Given the description of an element on the screen output the (x, y) to click on. 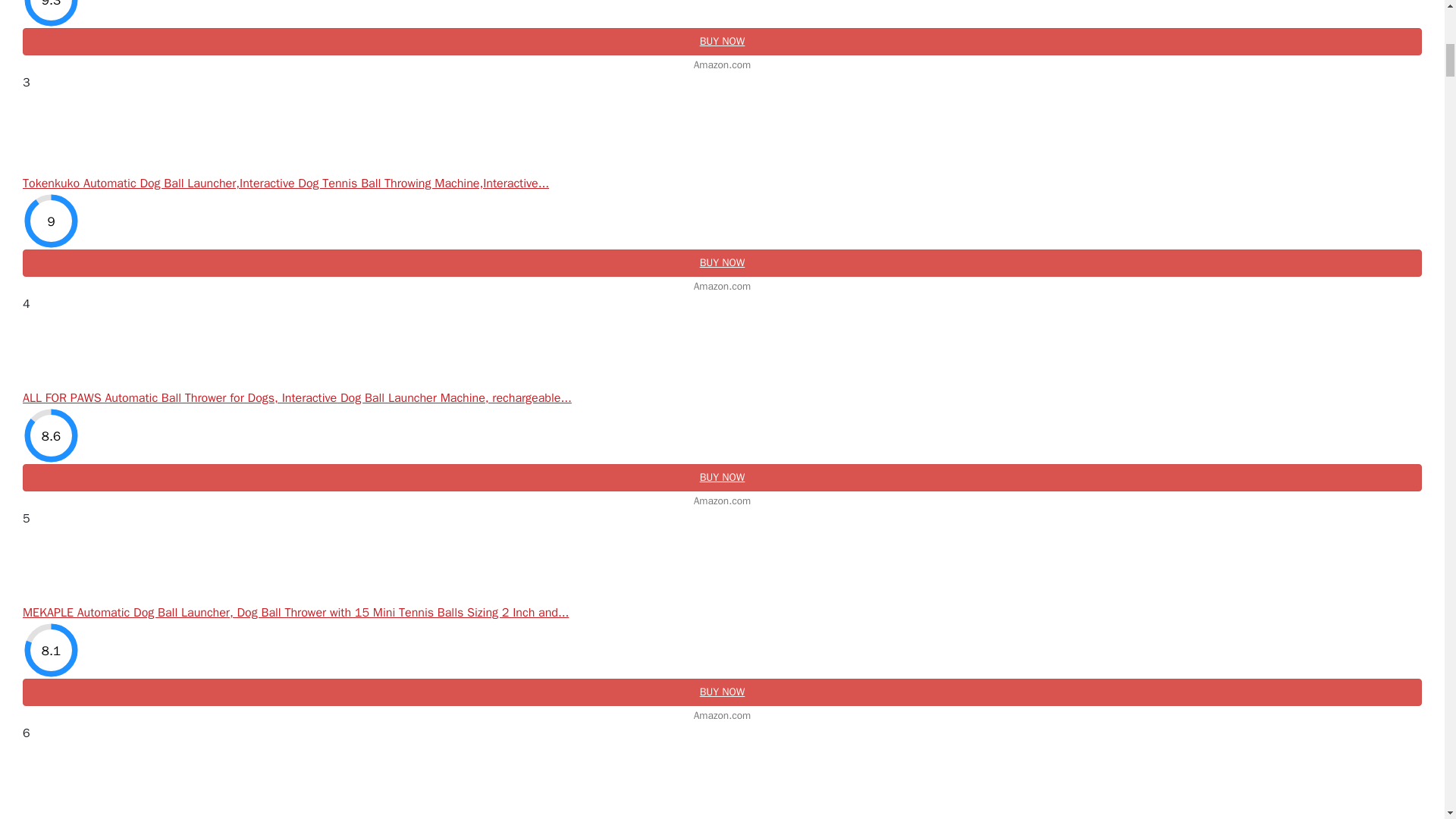
8.6 (51, 435)
9.3 (51, 13)
8.1 (51, 649)
9 (51, 220)
